Given the description of an element on the screen output the (x, y) to click on. 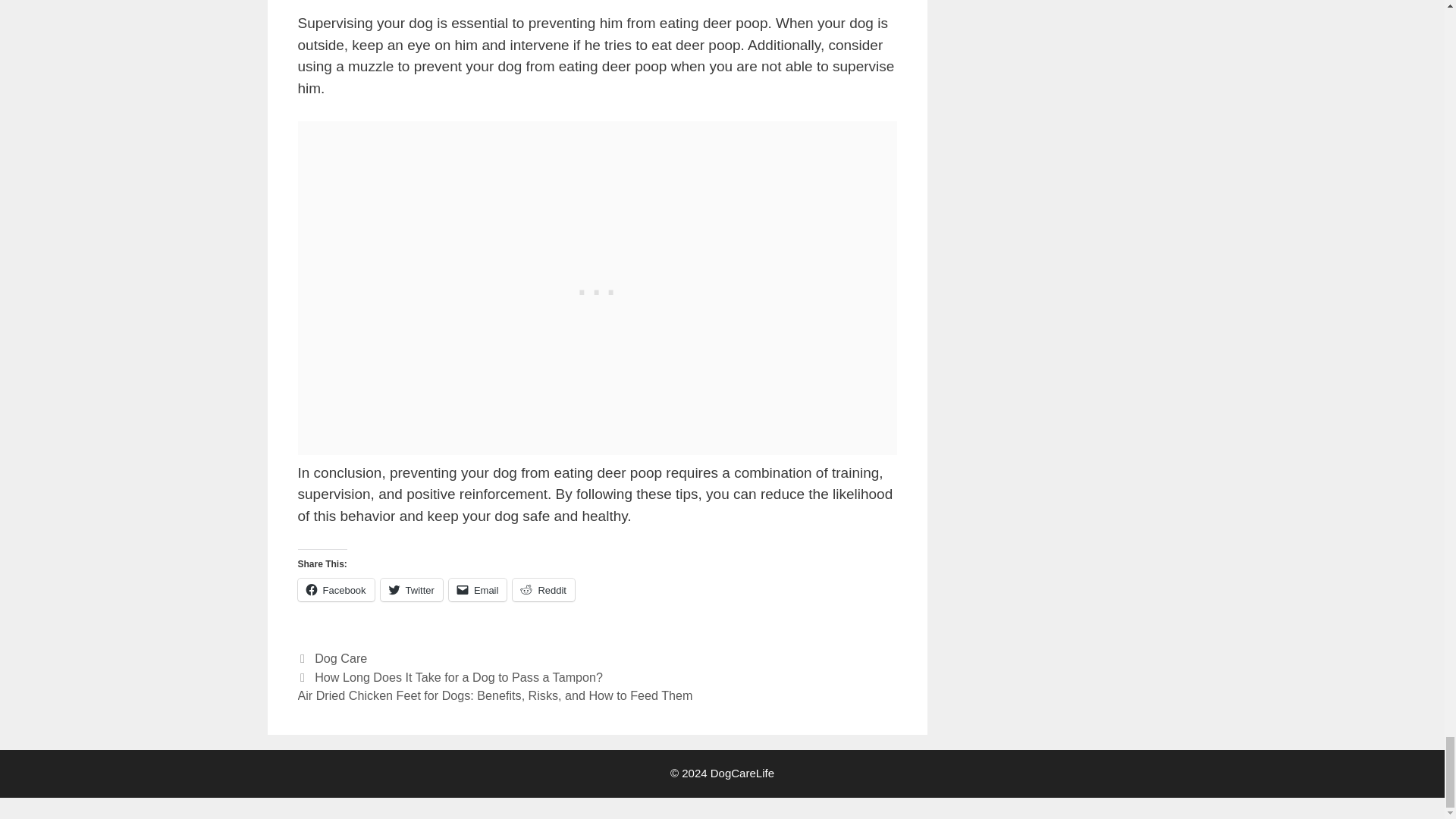
Click to share on Twitter (411, 589)
How Long Does It Take for a Dog to Pass a Tampon? (458, 676)
Dog Care (340, 658)
Click to share on Facebook (335, 589)
Reddit (543, 589)
Email (477, 589)
Click to email a link to a friend (477, 589)
Click to share on Reddit (543, 589)
Twitter (411, 589)
Facebook (335, 589)
